Given the description of an element on the screen output the (x, y) to click on. 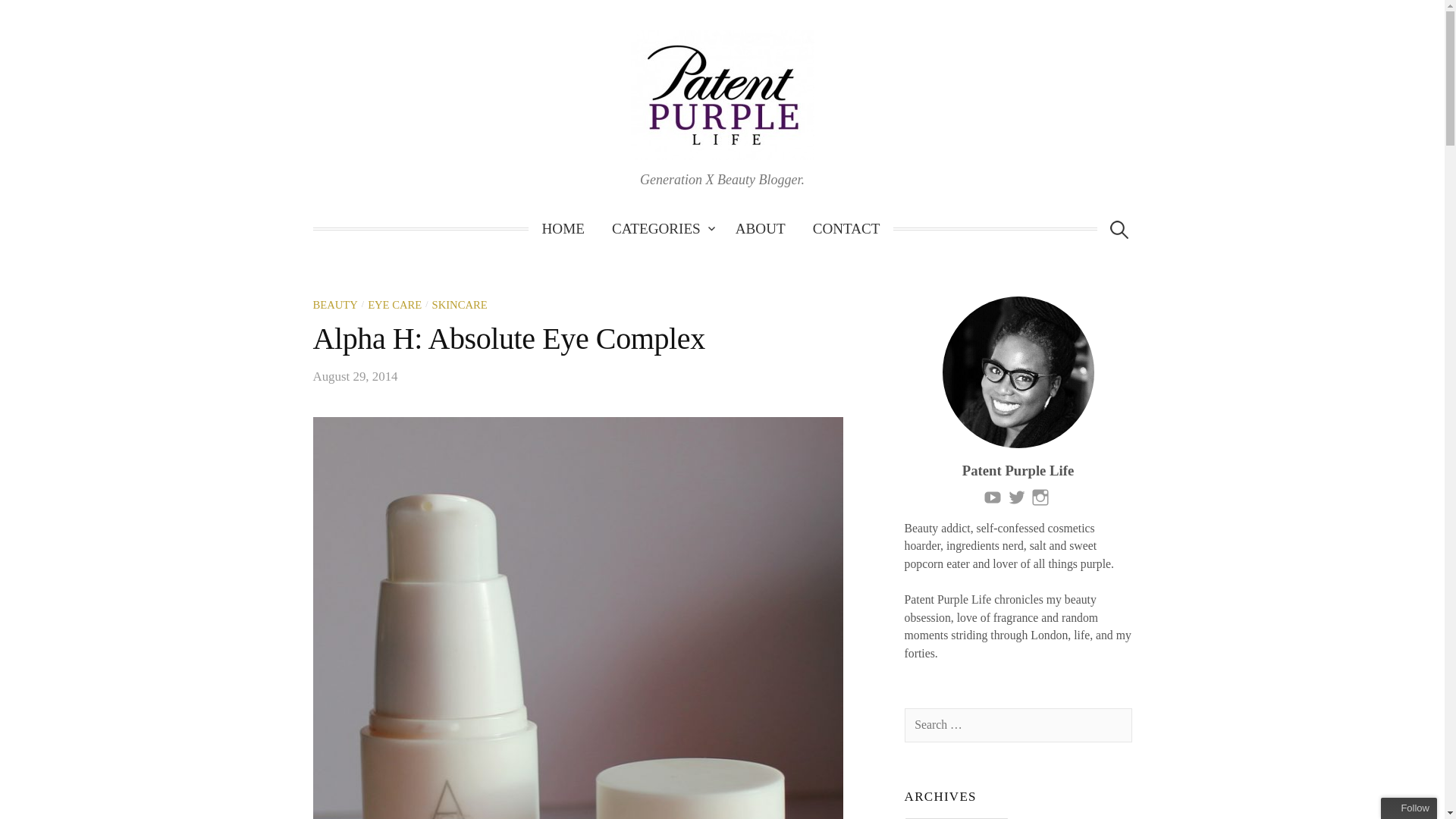
CATEGORIES (660, 228)
HOME (563, 228)
